Given the description of an element on the screen output the (x, y) to click on. 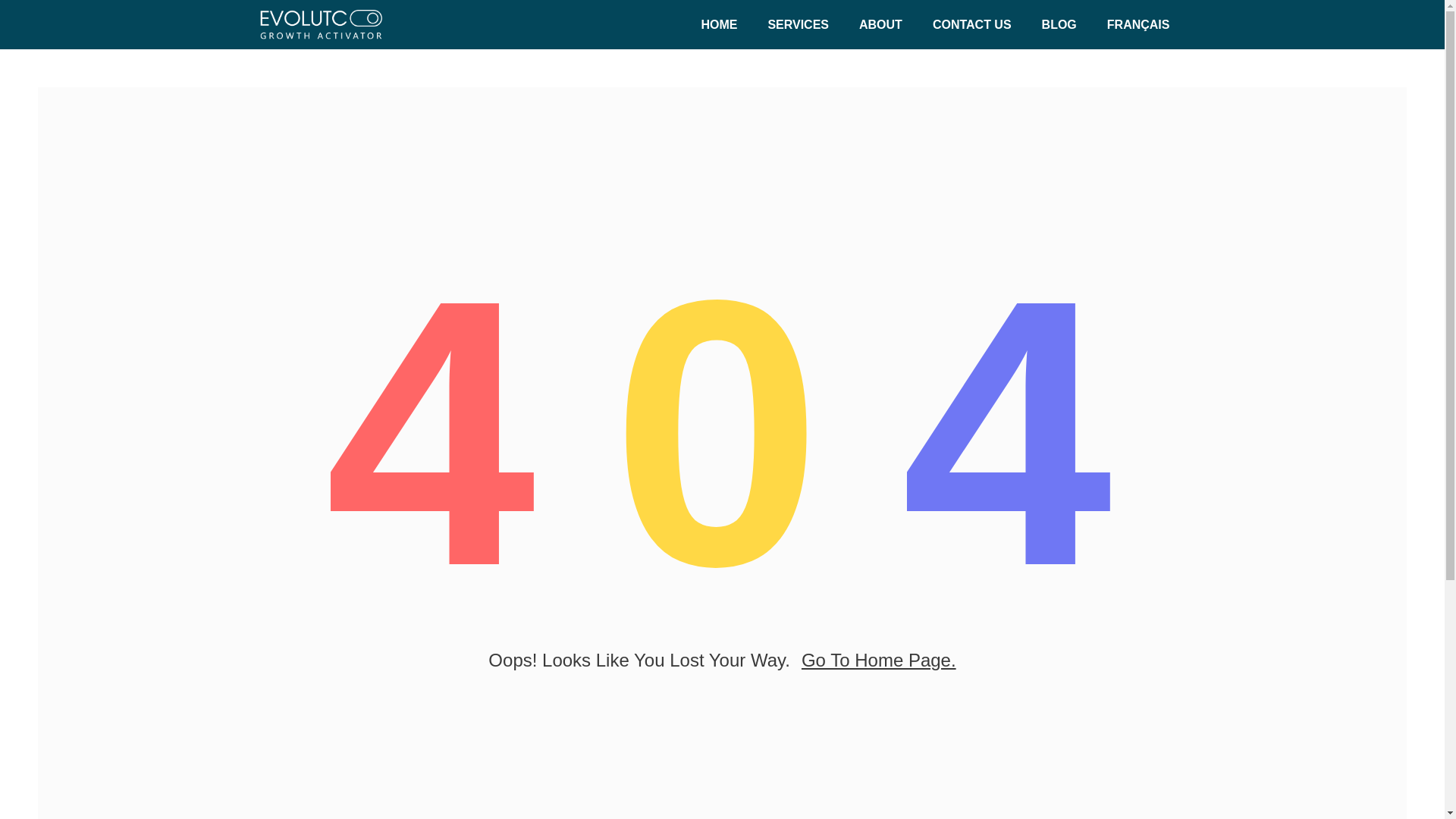
HOME (718, 24)
BLOG (1059, 24)
CONTACT US (971, 24)
Go To Home Page. (879, 660)
ABOUT (880, 24)
SERVICES (798, 24)
